Given the description of an element on the screen output the (x, y) to click on. 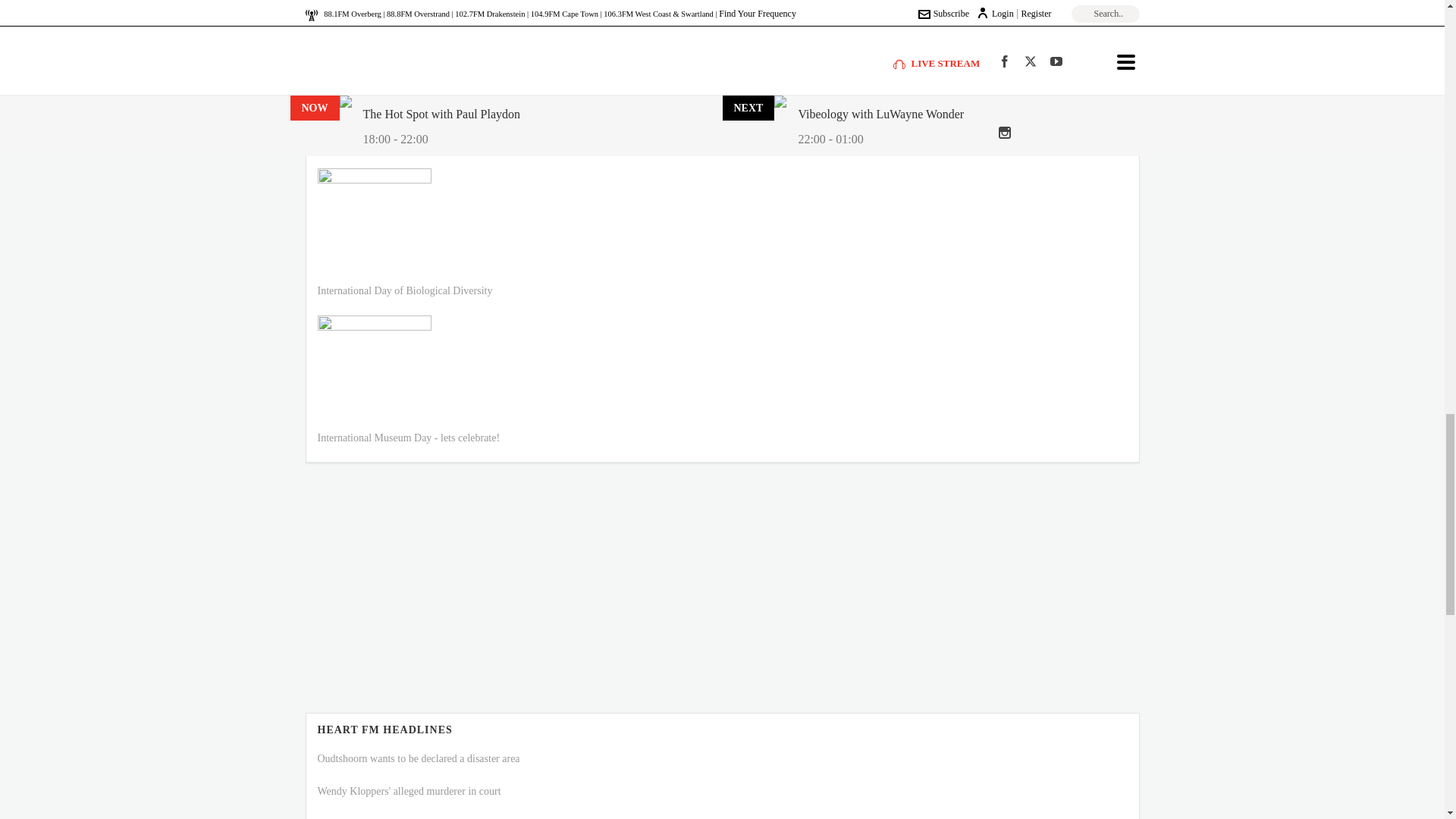
Oudtshoorn wants to be declared a disaster area (418, 758)
International Museum Day - lets celebrate! (408, 437)
museum (373, 372)
Wendy Kloppers' alleged murderer in court (408, 790)
International Day of Biological Diversity (404, 290)
tempimagepvzsmt (373, 78)
International Day Of Biological Diversity (373, 224)
